Given the description of an element on the screen output the (x, y) to click on. 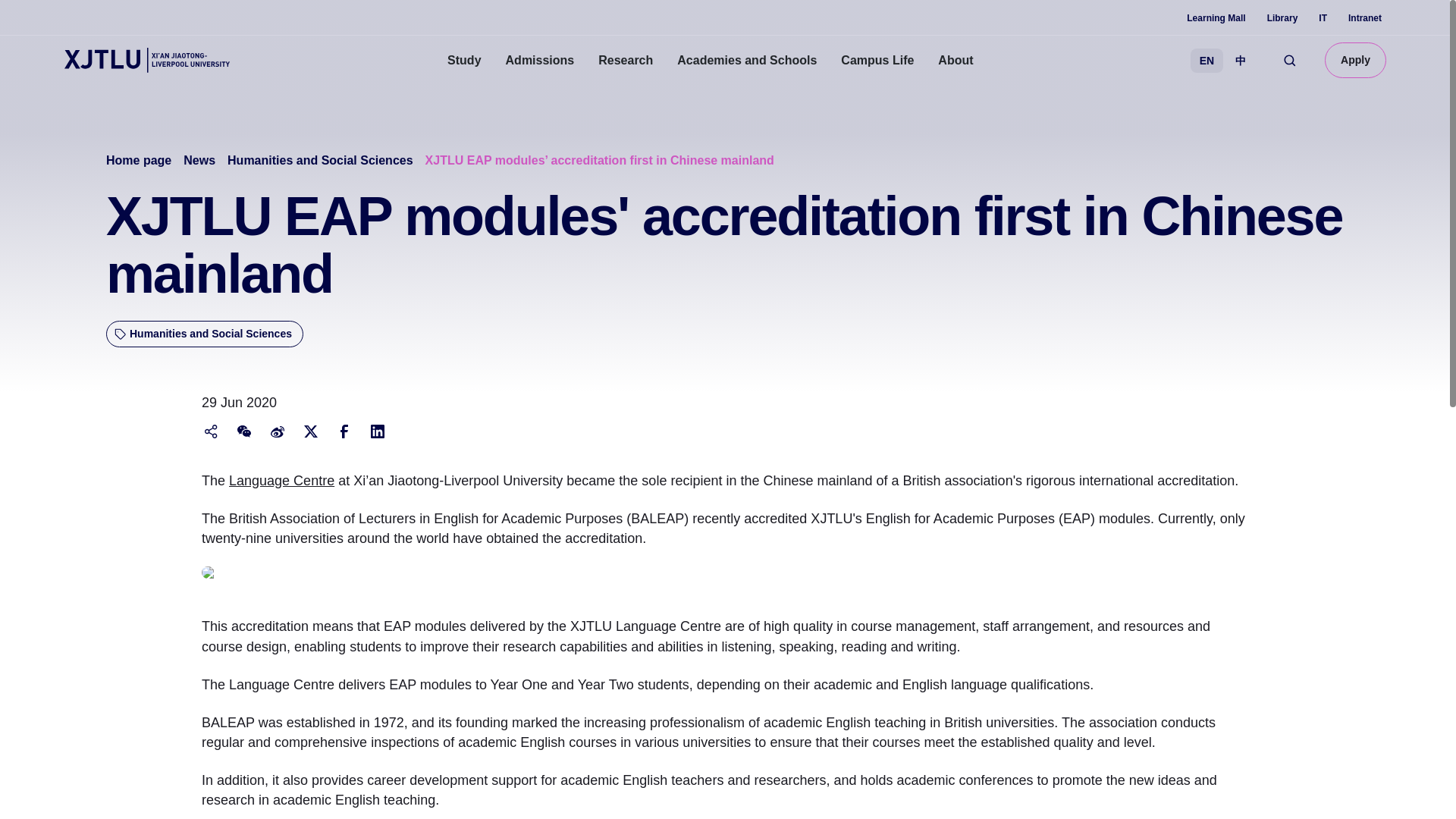
Admissions (539, 60)
Library (1282, 18)
Intranet (1364, 18)
Study (464, 60)
Learning Mall (1215, 18)
